Given the description of an element on the screen output the (x, y) to click on. 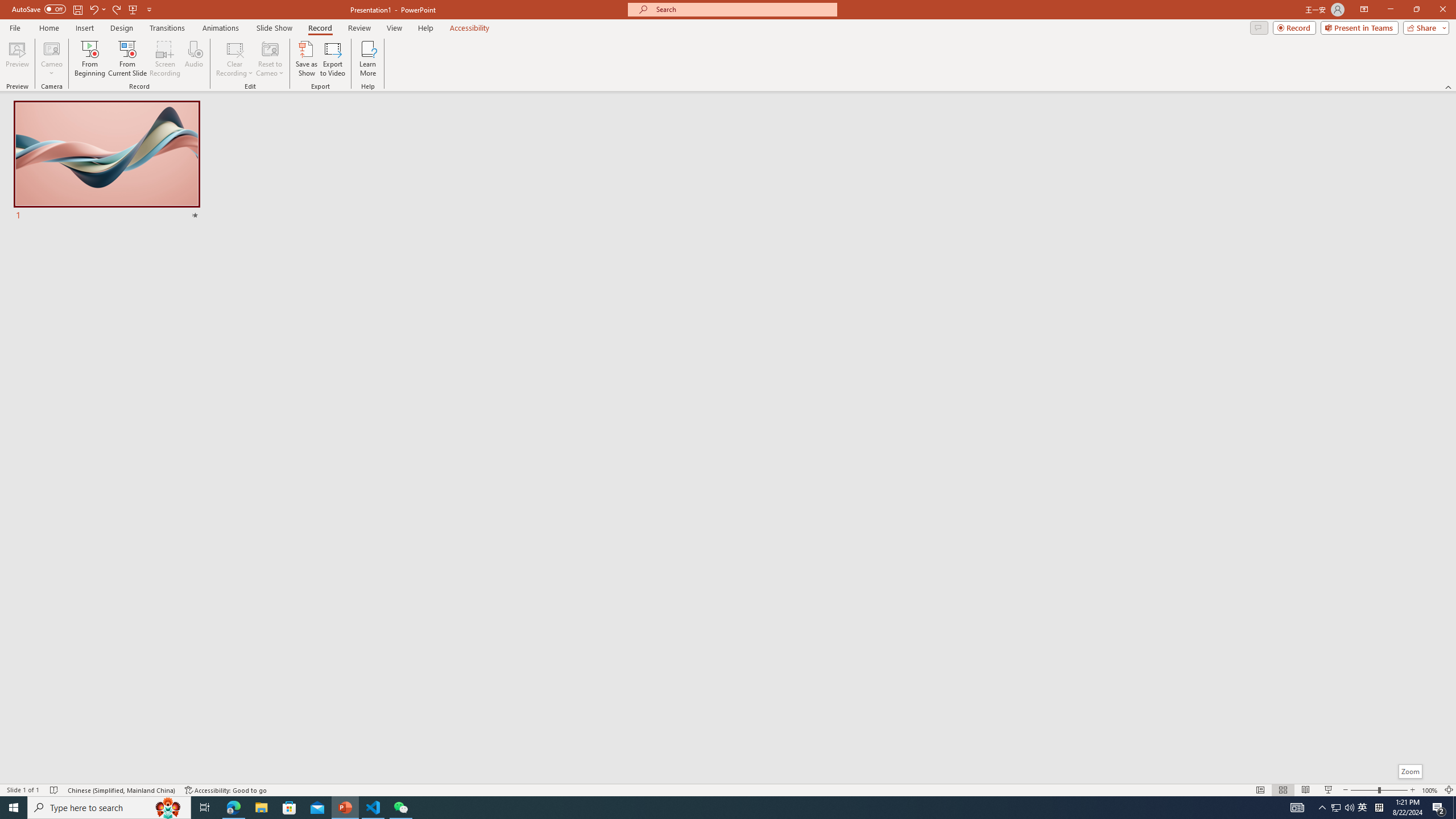
Zoom 100% (1430, 790)
Clear Recording (234, 58)
Audio (193, 58)
